Given the description of an element on the screen output the (x, y) to click on. 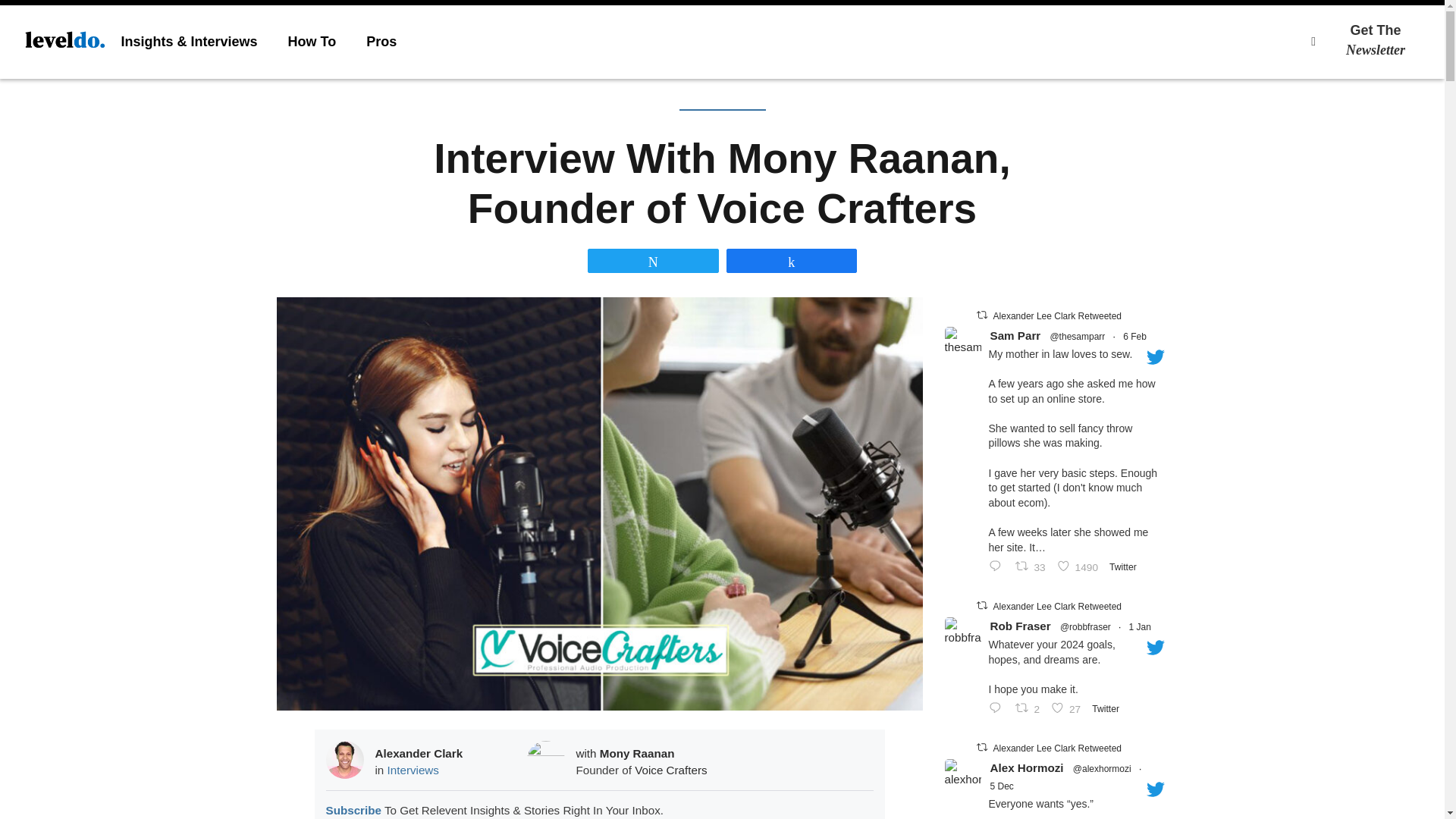
Interviews (413, 769)
How To (312, 41)
Mony Raanan (637, 753)
Subscribe (353, 810)
with (587, 753)
Voice Crafters (670, 769)
Pros (1386, 40)
Alexander Clark (381, 41)
